Given the description of an element on the screen output the (x, y) to click on. 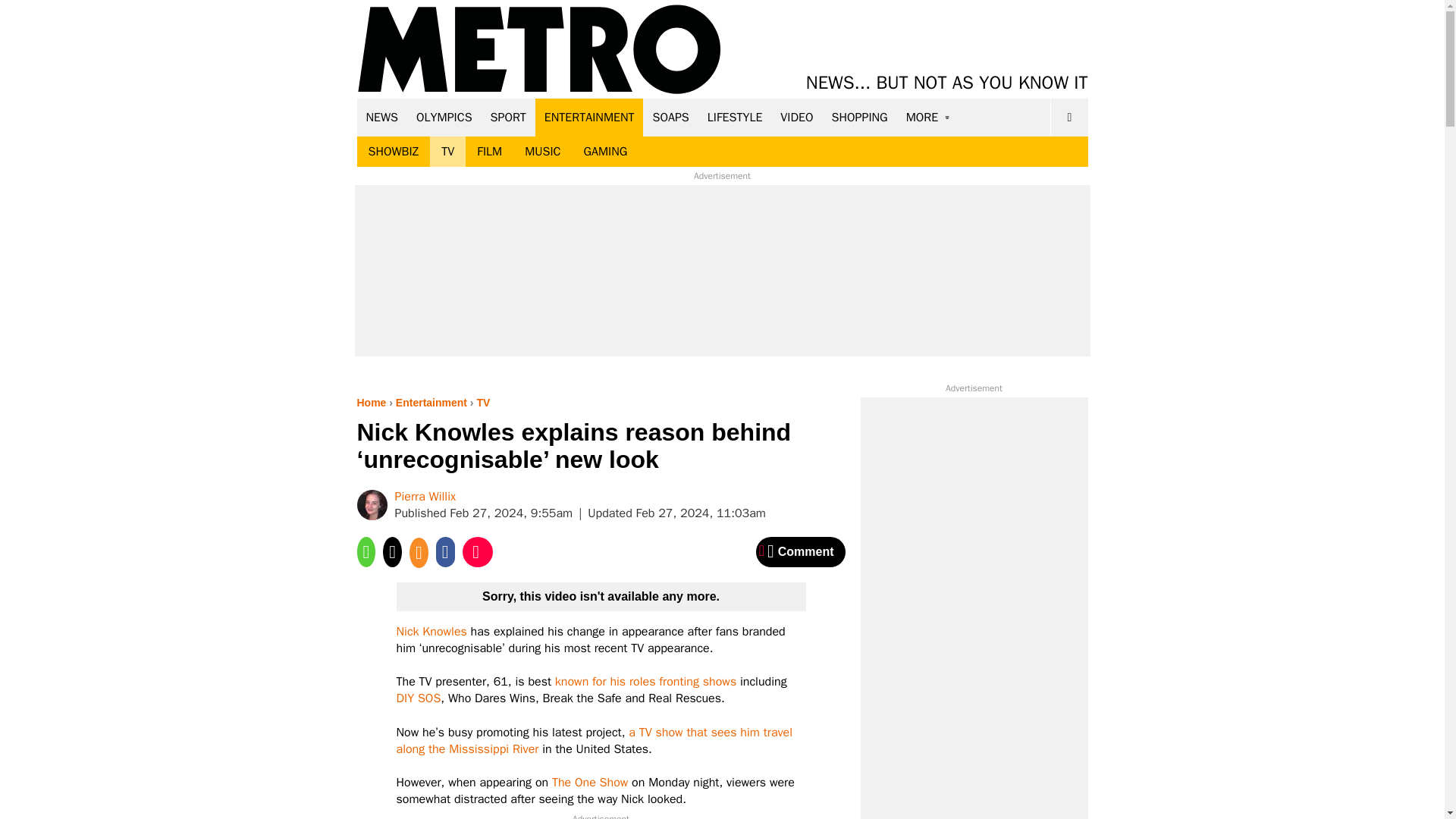
NEWS (381, 117)
Metro (539, 50)
SOAPS (670, 117)
LIFESTYLE (734, 117)
FILM (489, 151)
MUSIC (542, 151)
GAMING (605, 151)
ENTERTAINMENT (589, 117)
OLYMPICS (444, 117)
SPORT (508, 117)
TV (447, 151)
SHOWBIZ (392, 151)
